Given the description of an element on the screen output the (x, y) to click on. 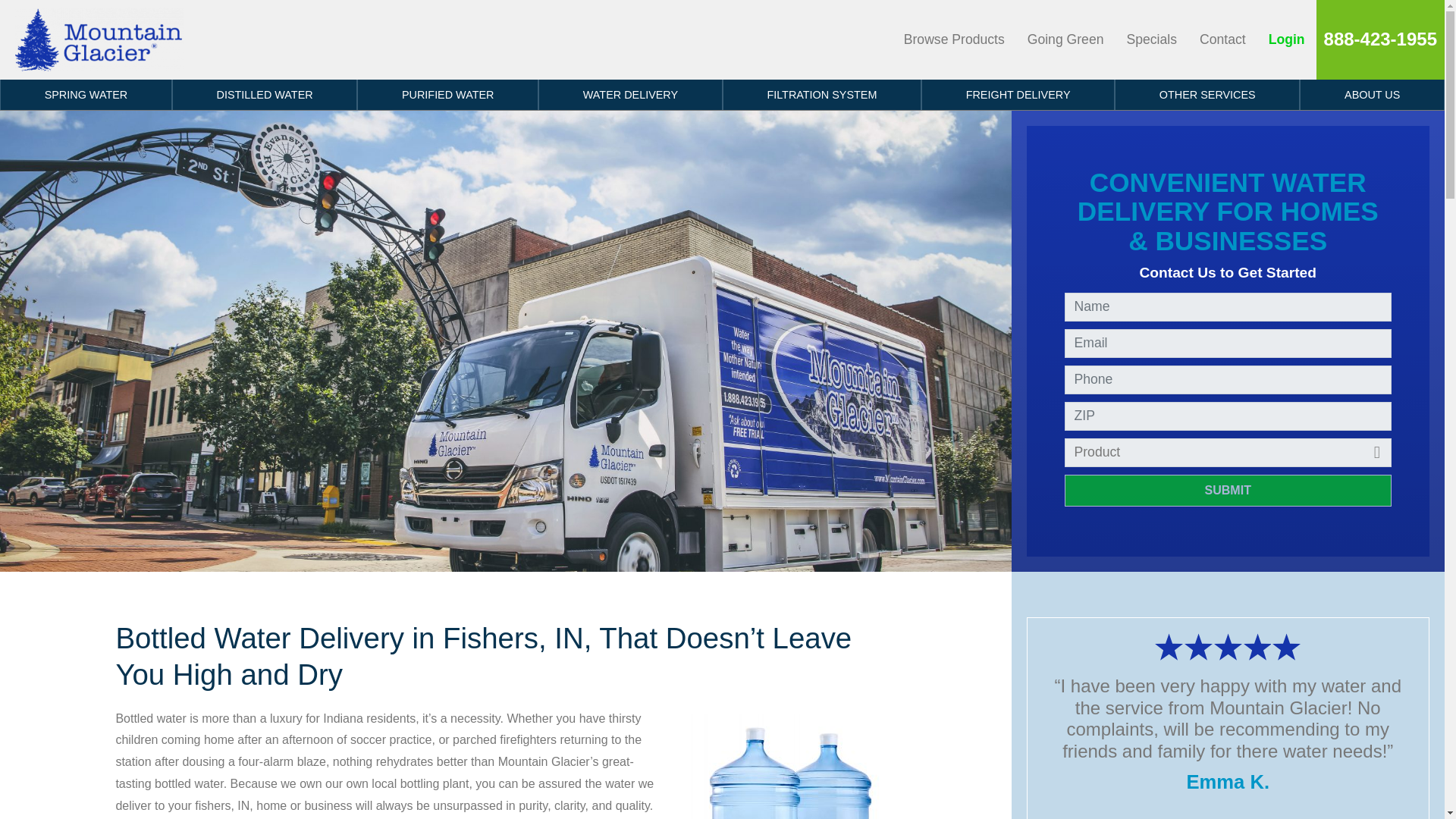
WATER DELIVERY (630, 94)
Login (1286, 40)
Bottled Water Fishers IN (789, 766)
PURIFIED WATER (447, 94)
FILTRATION SYSTEM (821, 94)
Browse Products (954, 40)
SPRING WATER (85, 94)
OTHER SERVICES (1207, 94)
Contact (1222, 40)
Mountain Glacier (98, 39)
DISTILLED WATER (263, 94)
Going Green (1065, 40)
Specials (1151, 40)
FREIGHT DELIVERY (1018, 94)
